Given the description of an element on the screen output the (x, y) to click on. 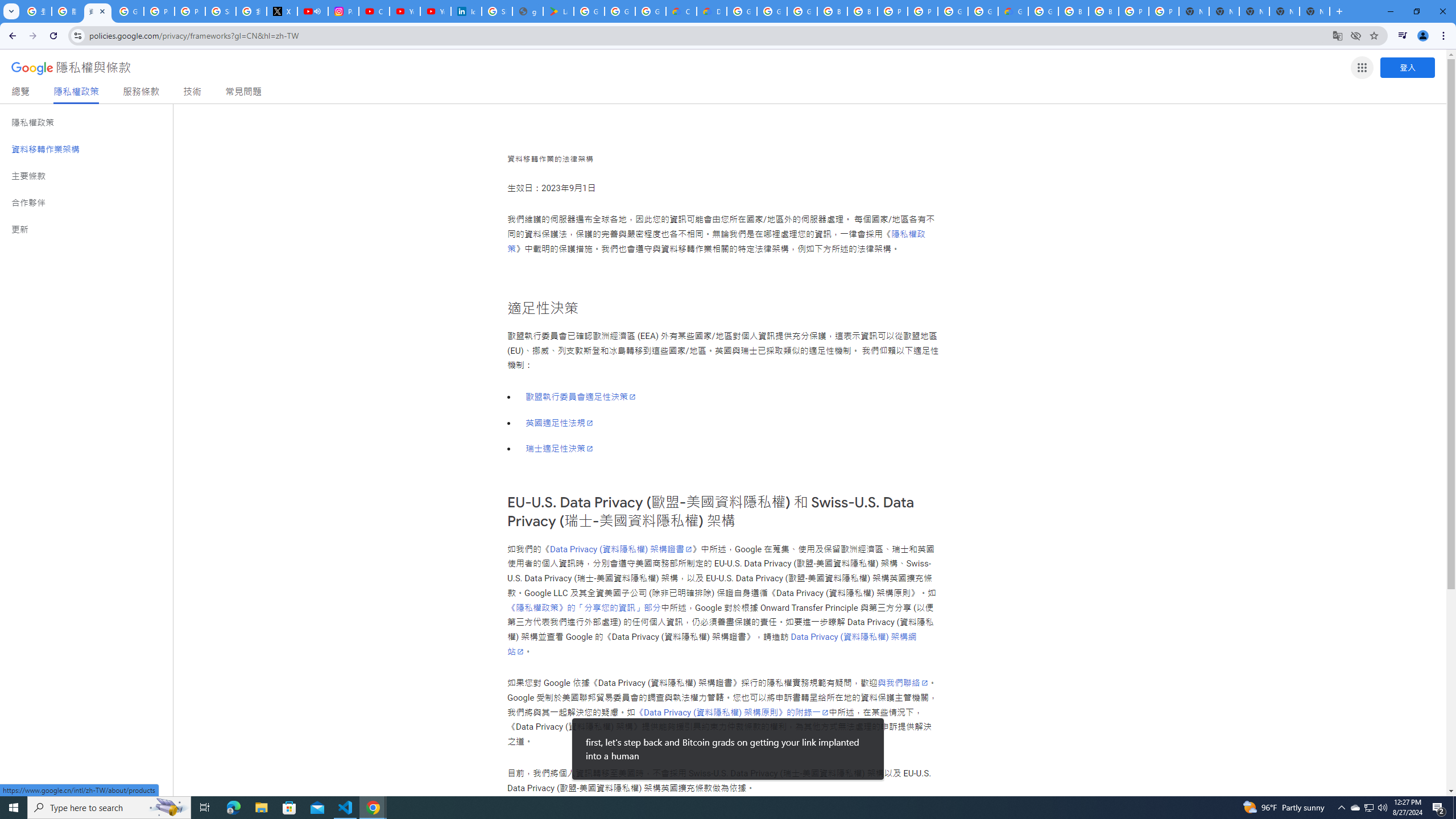
Privacy Help Center - Policies Help (189, 11)
X (282, 11)
Google Workspace - Specific Terms (650, 11)
Google Cloud Platform (982, 11)
Google Cloud Estimate Summary (1012, 11)
New Tab (1314, 11)
Google Cloud Platform (952, 11)
